Given the description of an element on the screen output the (x, y) to click on. 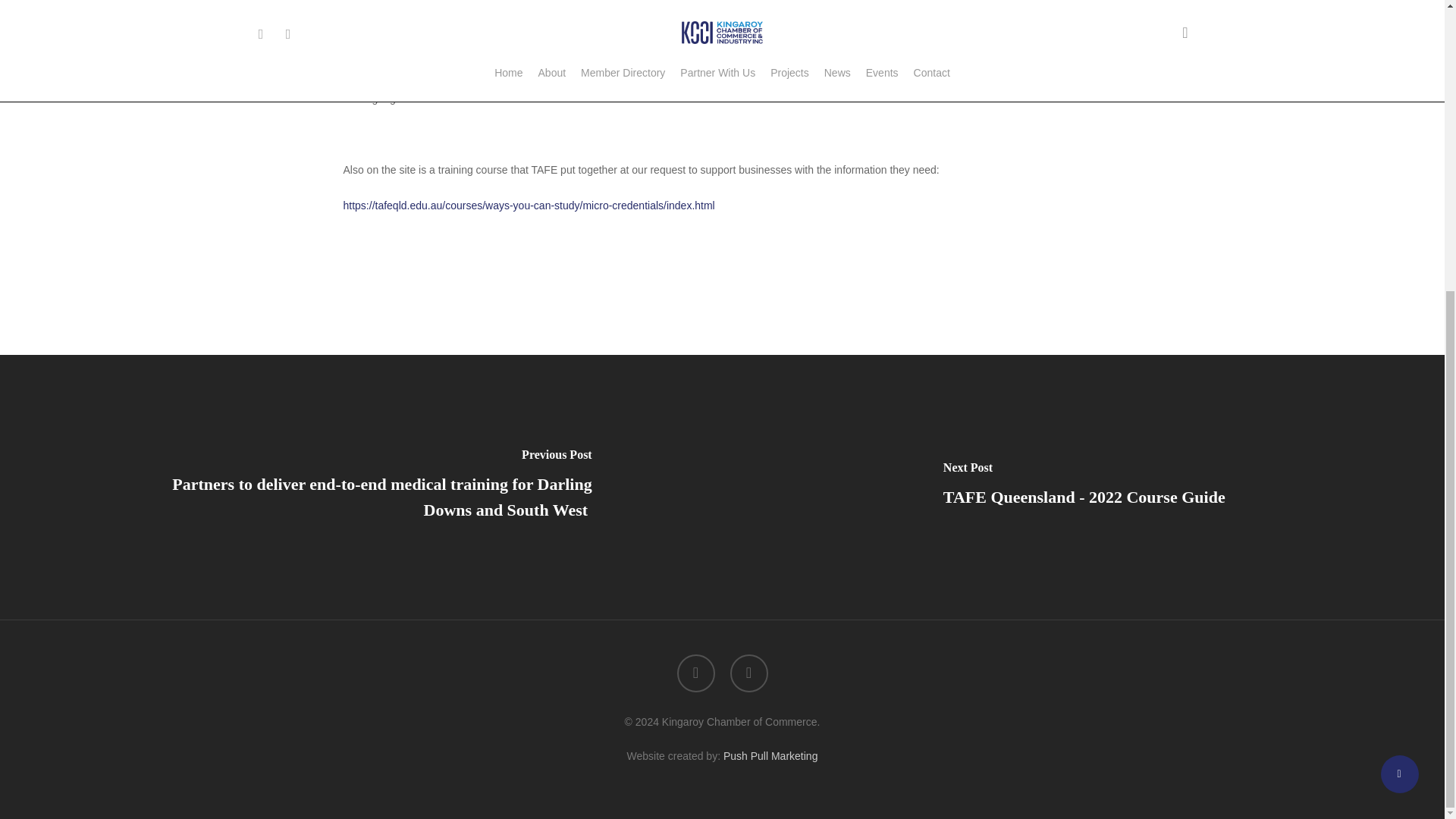
here (571, 98)
facebook (695, 673)
Push Pull Marketing (770, 756)
email (748, 673)
